Given the description of an element on the screen output the (x, y) to click on. 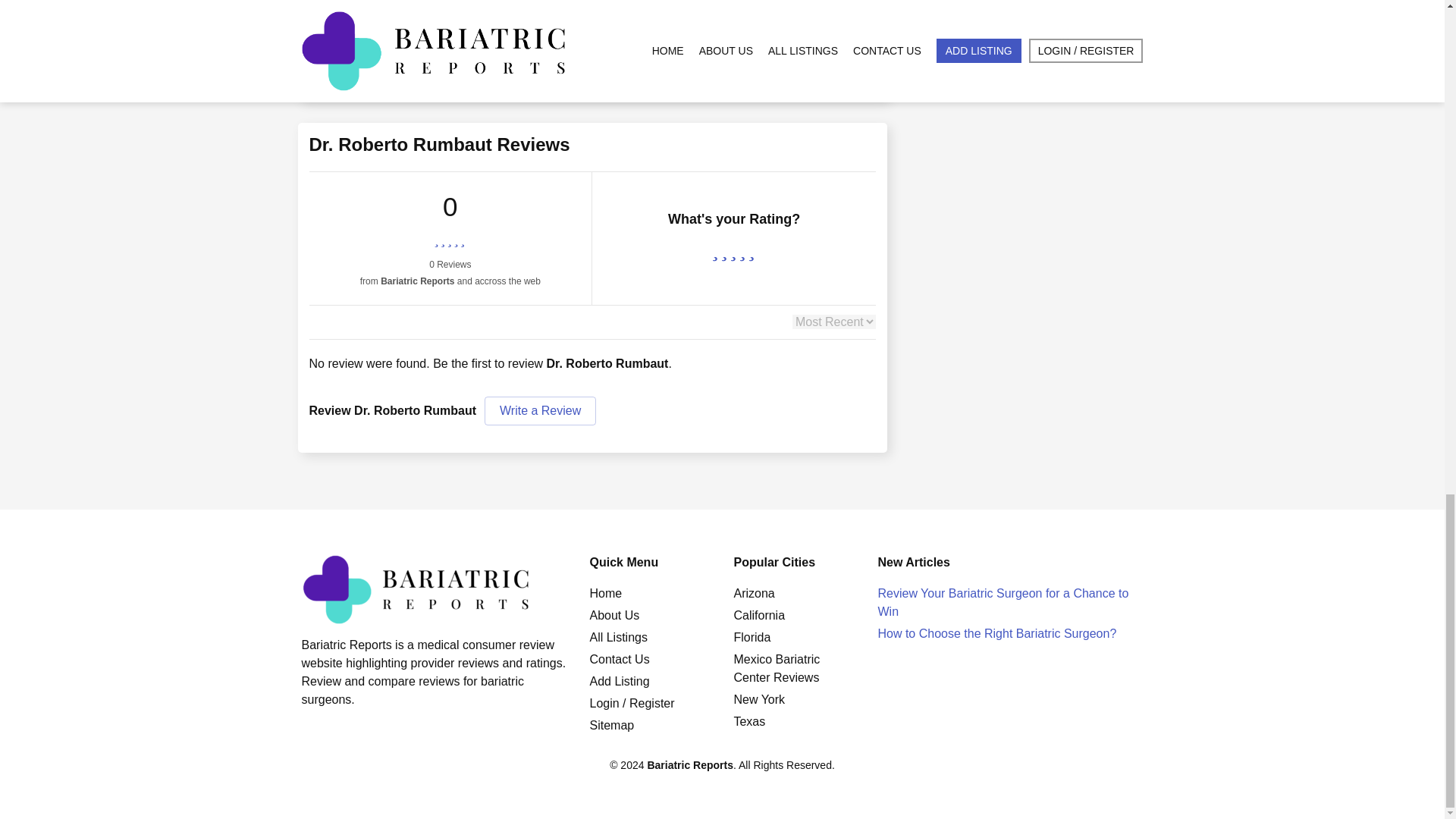
Texas (749, 721)
Arizona (753, 593)
Florida (751, 636)
Home (605, 593)
Review Your Bariatric Surgeon for a Chance to Win (1002, 602)
About Us (614, 615)
Contact Us (619, 658)
All Listings (617, 636)
Bariatric Reports (689, 765)
How to Choose the Right Bariatric Surgeon? (996, 633)
